Given the description of an element on the screen output the (x, y) to click on. 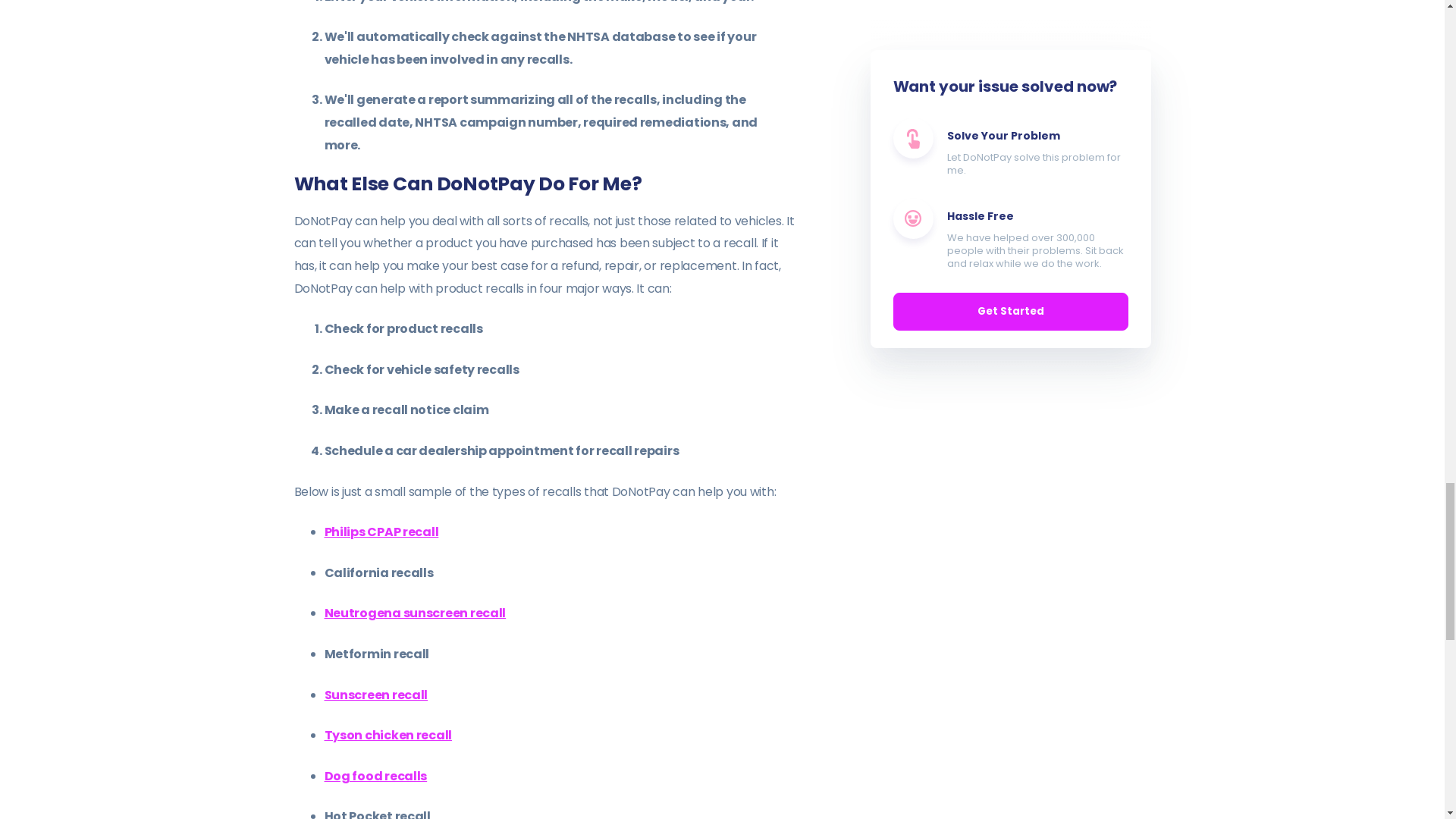
Sunscreen recall (376, 694)
Neutrogena sunscreen recall (415, 612)
Philips CPAP recall (381, 531)
Tyson chicken recall (388, 734)
Dog food recalls (376, 775)
